Given the description of an element on the screen output the (x, y) to click on. 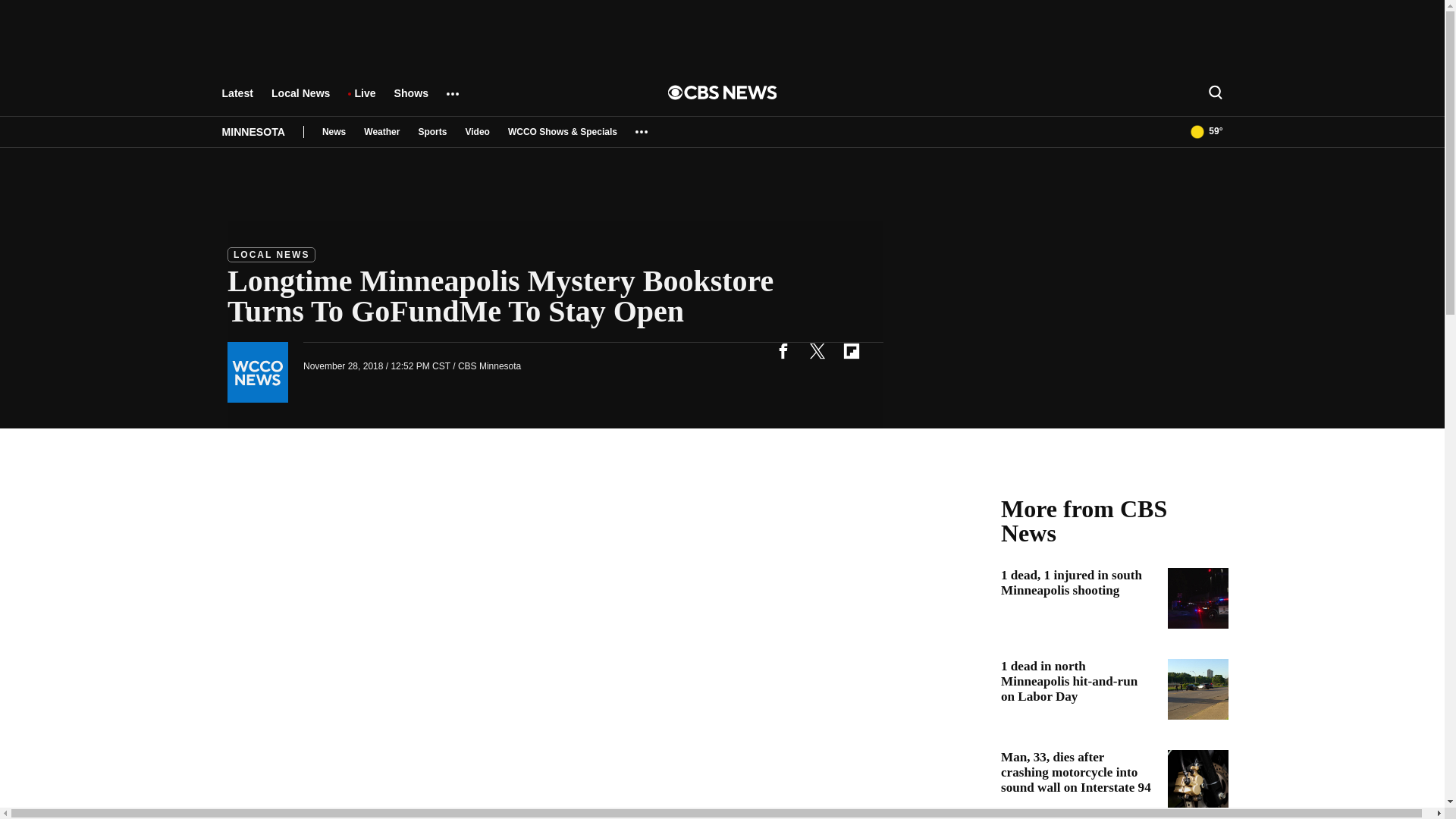
Local News (300, 100)
Latest (236, 100)
twitter (816, 350)
facebook (782, 350)
flipboard (850, 350)
